Given the description of an element on the screen output the (x, y) to click on. 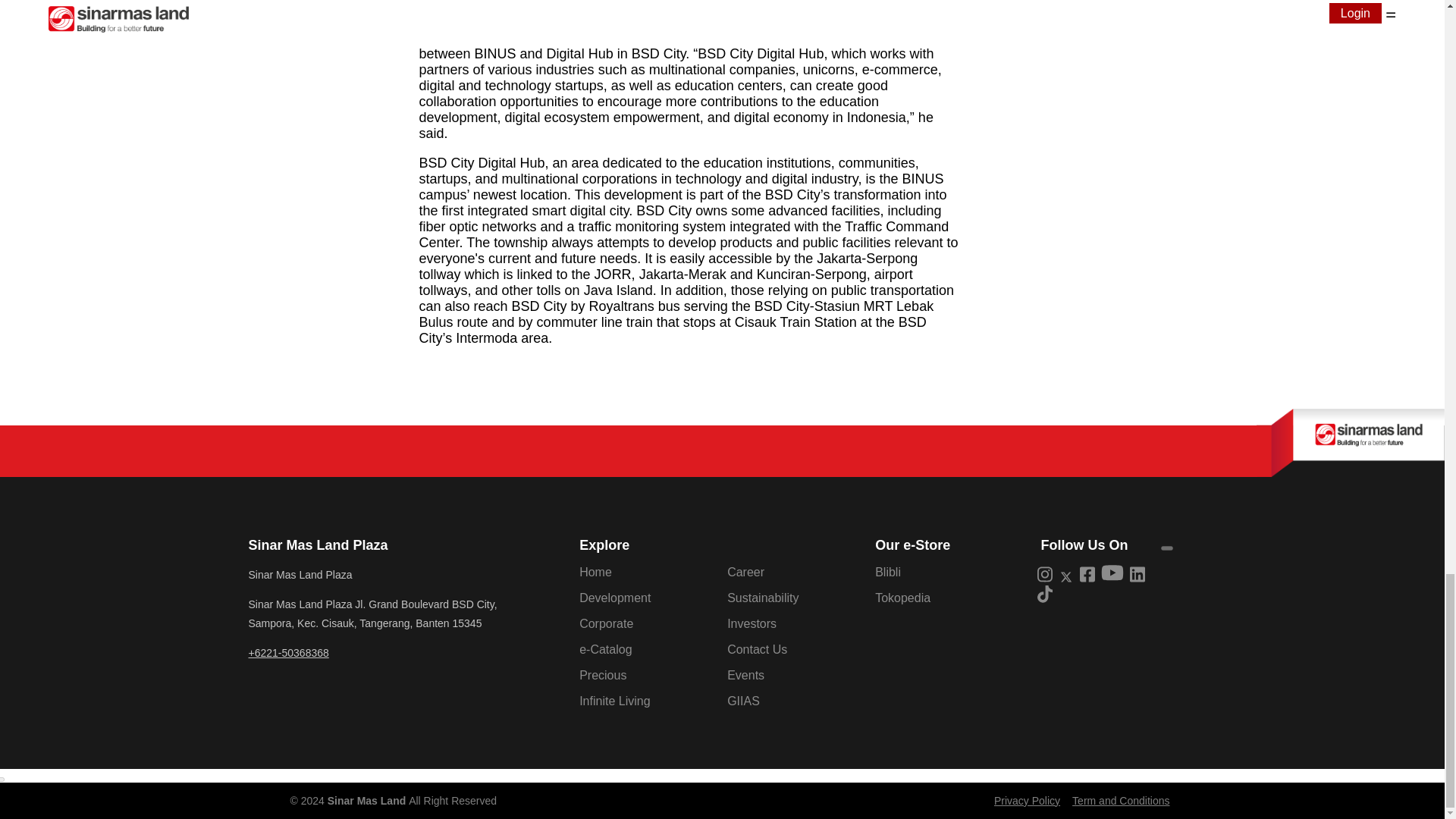
Precious (602, 675)
Privacy Policy (1026, 800)
GIIAS (743, 701)
Career (745, 572)
Events (745, 675)
Infinite Living (614, 701)
Contact Us (756, 649)
Corporate (606, 623)
Term and Conditions (1120, 800)
Blibli (888, 572)
e-Catalog (605, 649)
Sustainability (761, 597)
Tokopedia (902, 597)
Development (614, 597)
Home (595, 572)
